Given the description of an element on the screen output the (x, y) to click on. 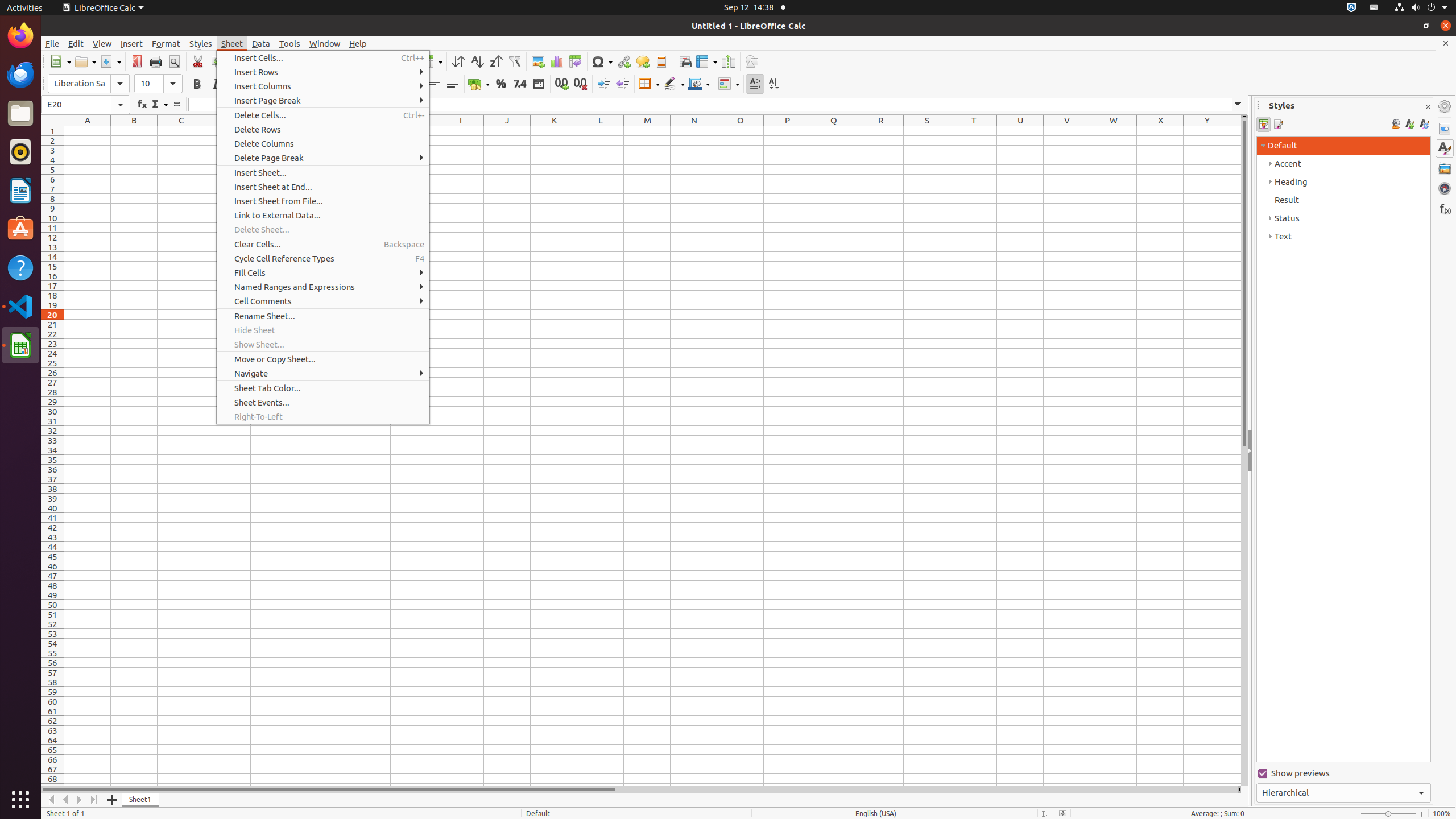
New Element type: push-button (59, 61)
File Element type: menu (51, 43)
Sheet Events... Element type: menu-item (322, 402)
Cut Element type: push-button (197, 61)
Sheet Tab Color... Element type: menu-item (322, 388)
